Given the description of an element on the screen output the (x, y) to click on. 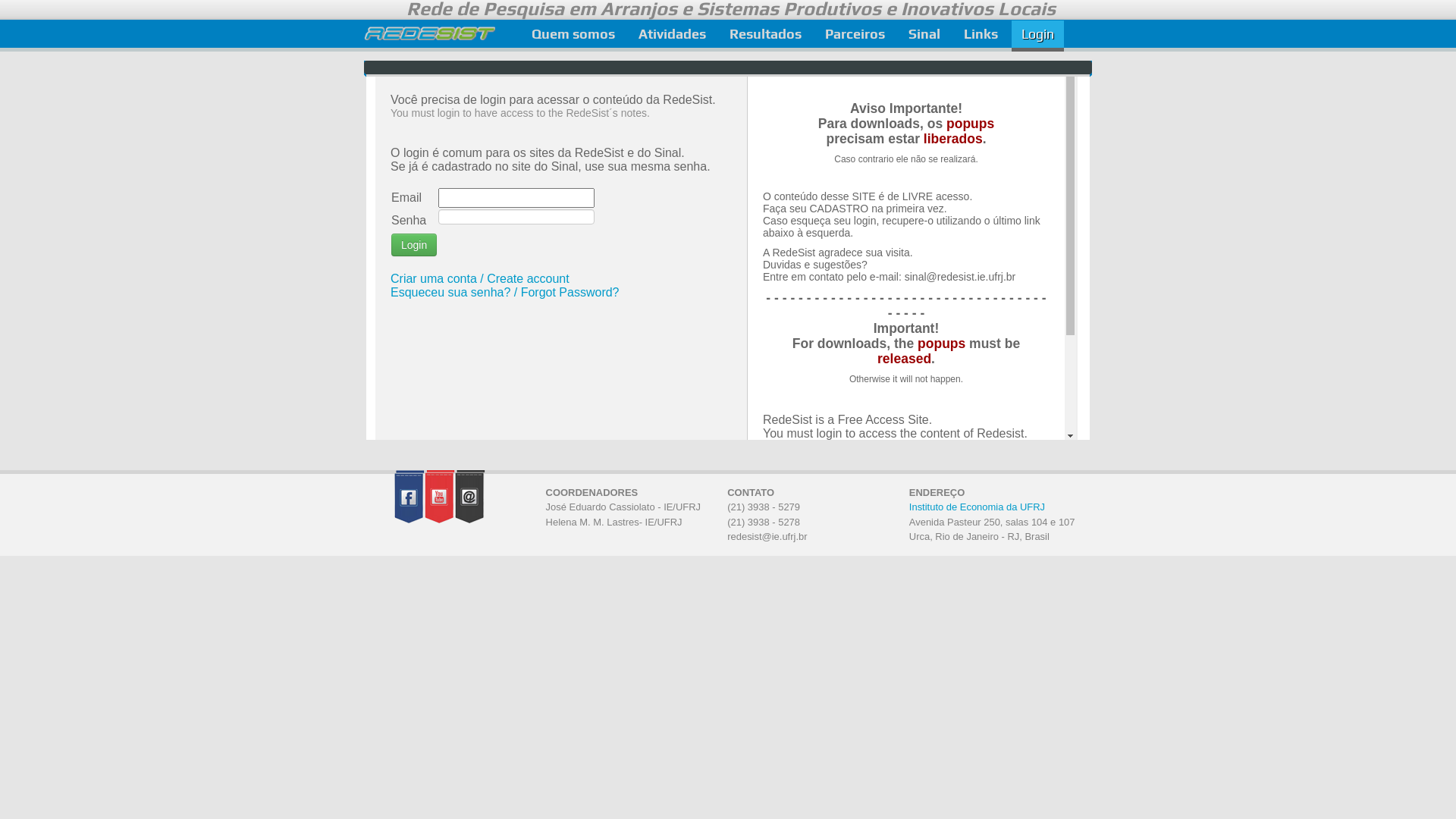
Login Element type: text (1037, 35)
Resultados Element type: text (765, 35)
Sinal Element type: text (924, 35)
Atividades Element type: text (671, 35)
Parceiros Element type: text (854, 35)
Instituto de Economia da UFRJ Element type: text (976, 506)
Links Element type: text (980, 35)
Quem somos Element type: text (572, 35)
